Given the description of an element on the screen output the (x, y) to click on. 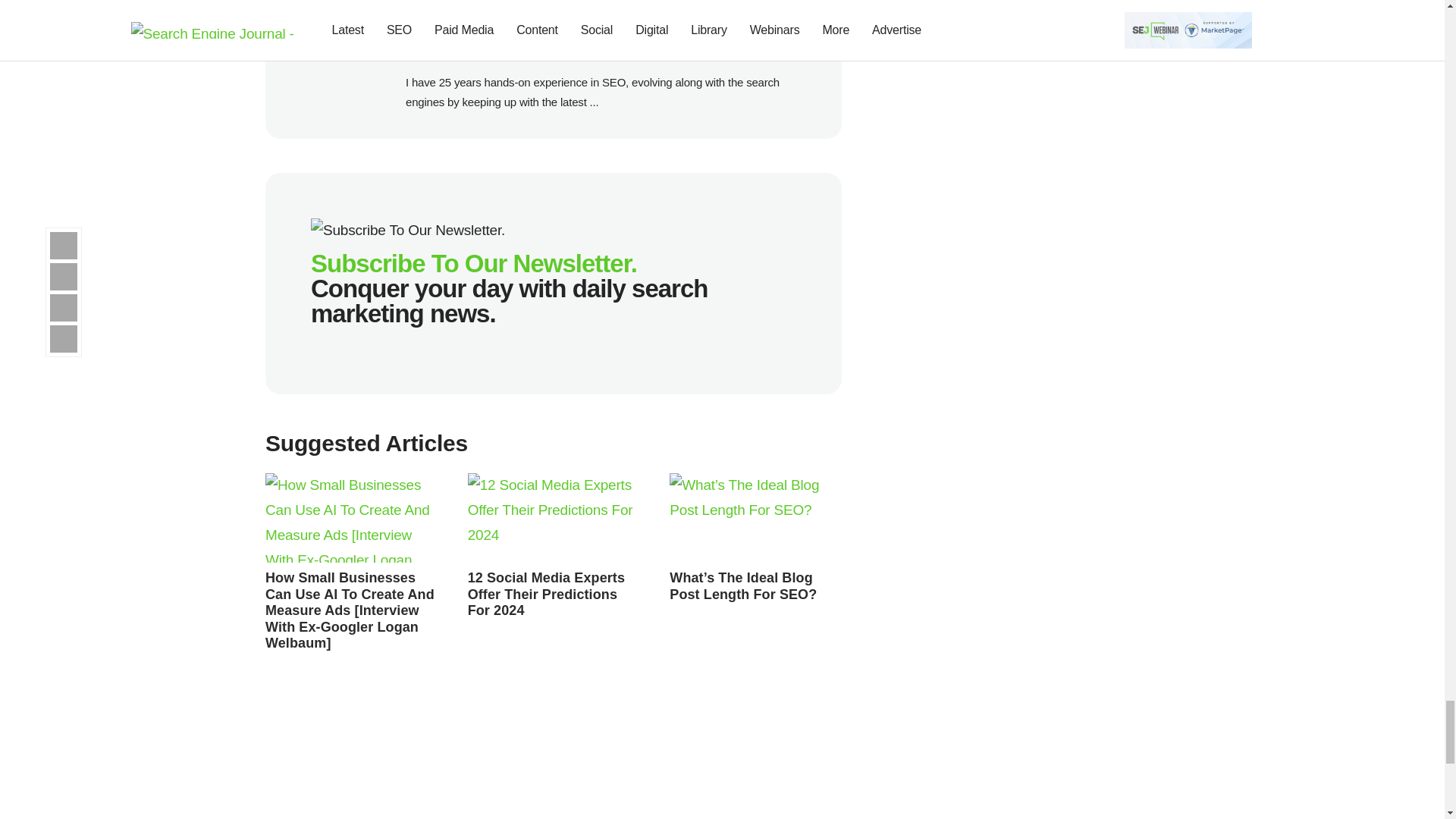
Read the Article (348, 610)
Read the Article (742, 585)
Read the Article (545, 594)
Read the Article (553, 517)
Read the Article (351, 517)
Read the Article (755, 517)
